Given the description of an element on the screen output the (x, y) to click on. 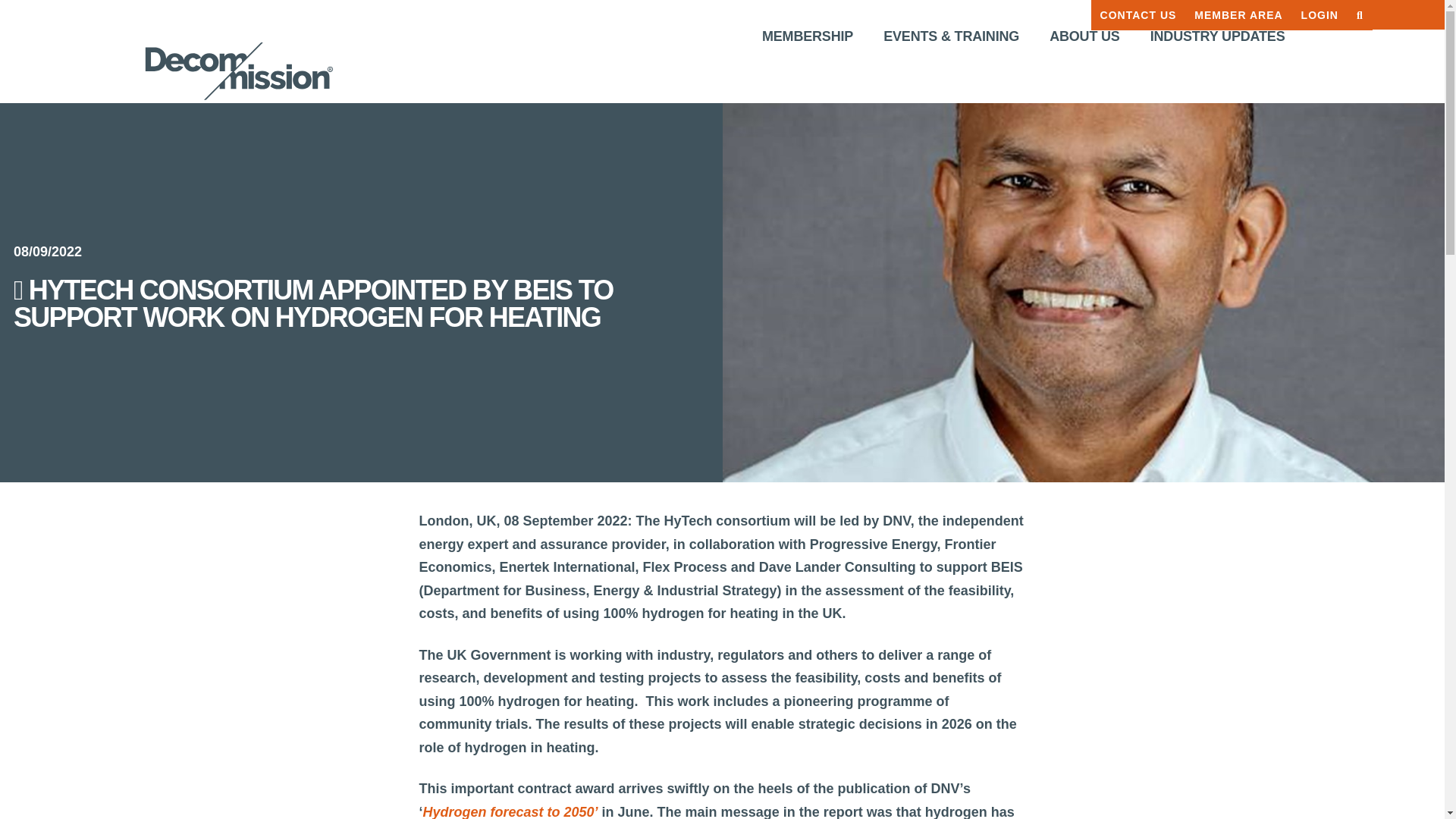
LOGIN (1320, 15)
ABOUT US (1084, 38)
CONTACT US (1138, 15)
MEMBERSHIP (806, 38)
INDUSTRY UPDATES (1217, 38)
MEMBER AREA (1238, 15)
